Given the description of an element on the screen output the (x, y) to click on. 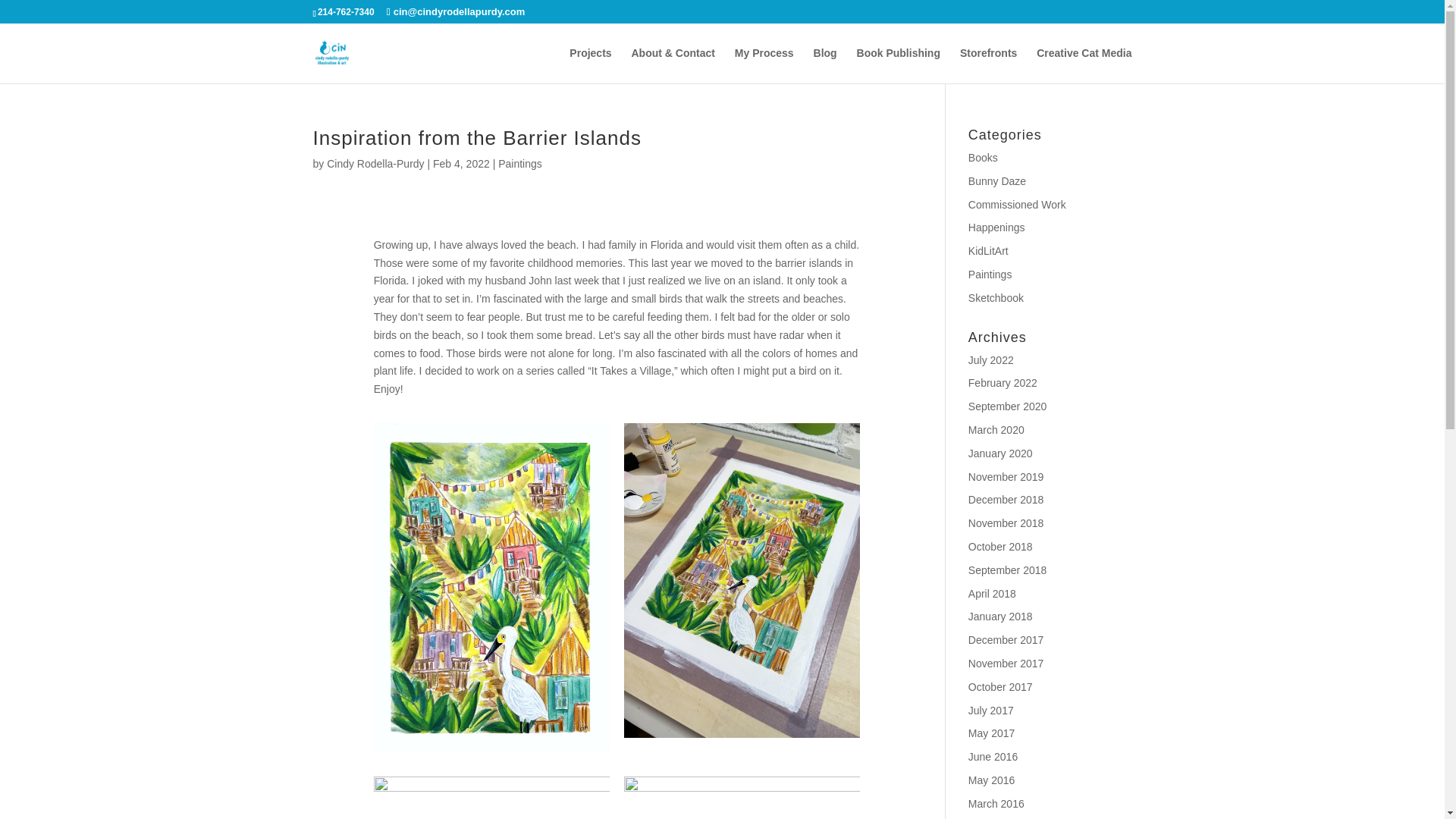
July 2022 (990, 359)
April 2018 (992, 593)
November 2017 (1005, 663)
November 2019 (1005, 476)
Storefronts (987, 65)
Bunny Daze (997, 181)
Paintings (989, 274)
KidLitArt (988, 250)
July 2017 (990, 710)
Happenings (996, 227)
